Given the description of an element on the screen output the (x, y) to click on. 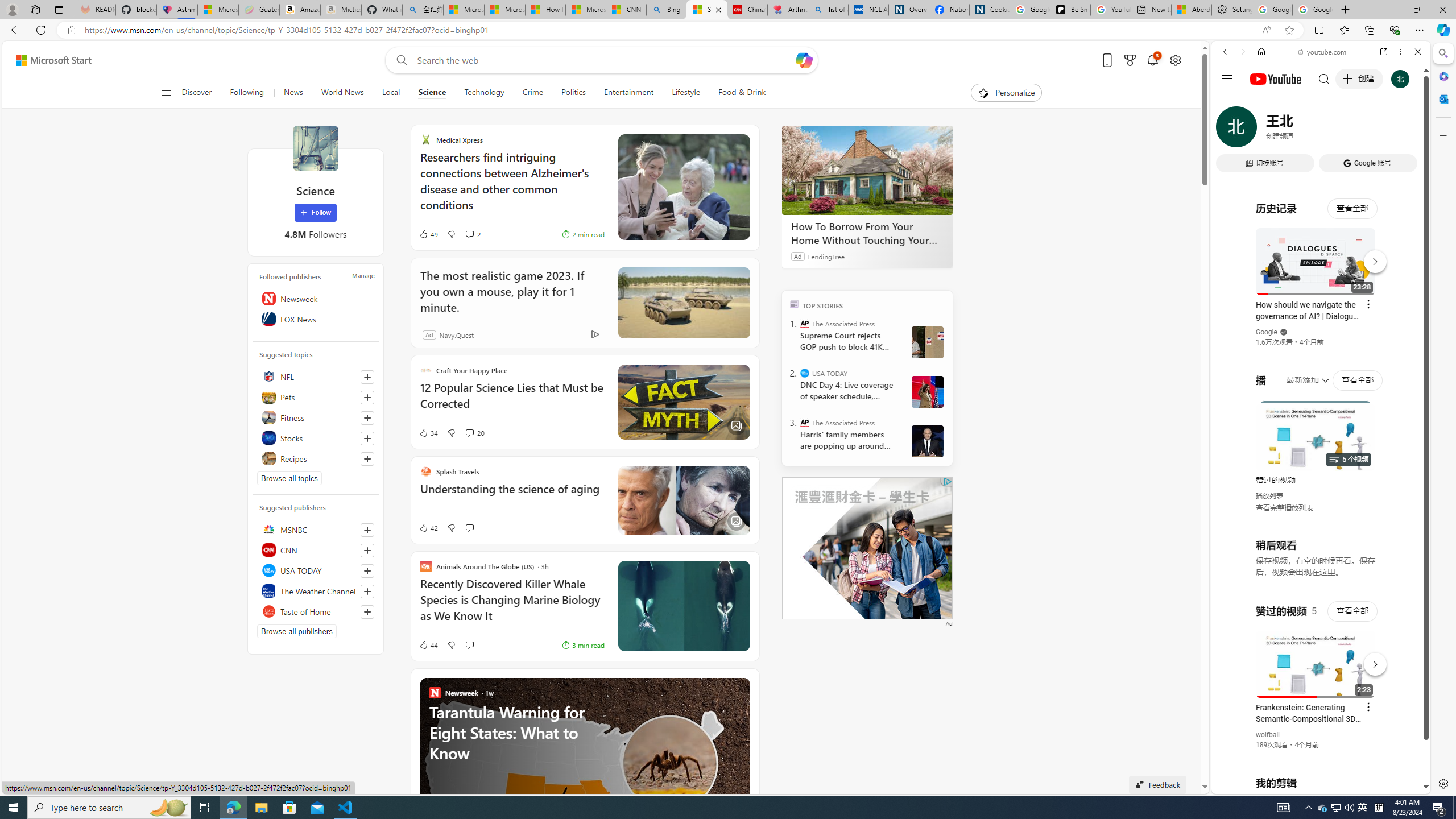
Entertainment (627, 92)
34 Like (427, 432)
Bing (666, 9)
NFL (315, 376)
New tab (1150, 9)
Google (1266, 331)
How To Borrow From Your Home Without Touching Your Mortgage (866, 232)
Microsoft rewards (1129, 60)
list of asthma inhalers uk - Search (828, 9)
